Given the description of an element on the screen output the (x, y) to click on. 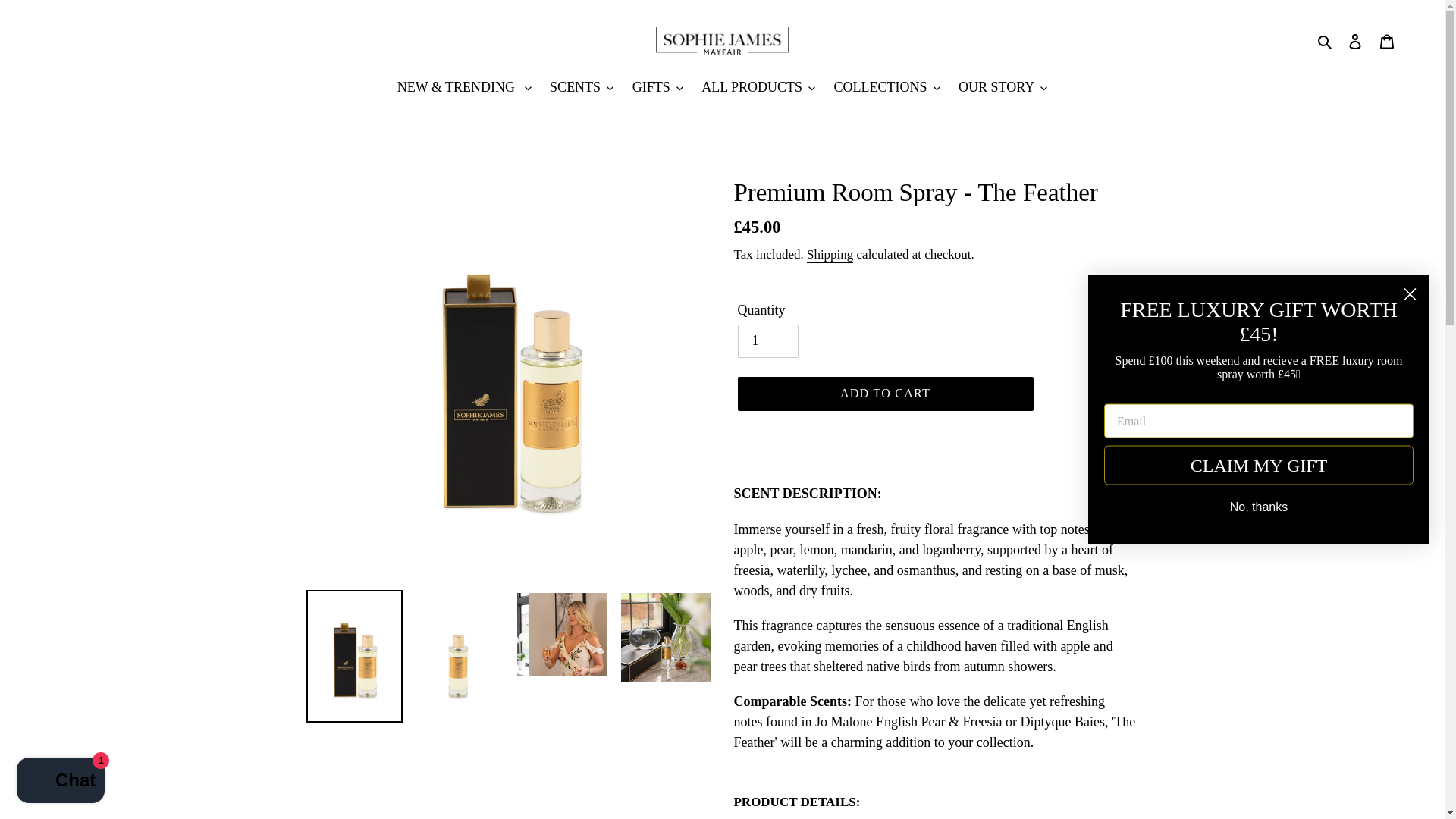
Shopify online store chat (60, 781)
1 (766, 340)
Search (1326, 40)
Log in (1355, 40)
Cart (1387, 40)
